Given the description of an element on the screen output the (x, y) to click on. 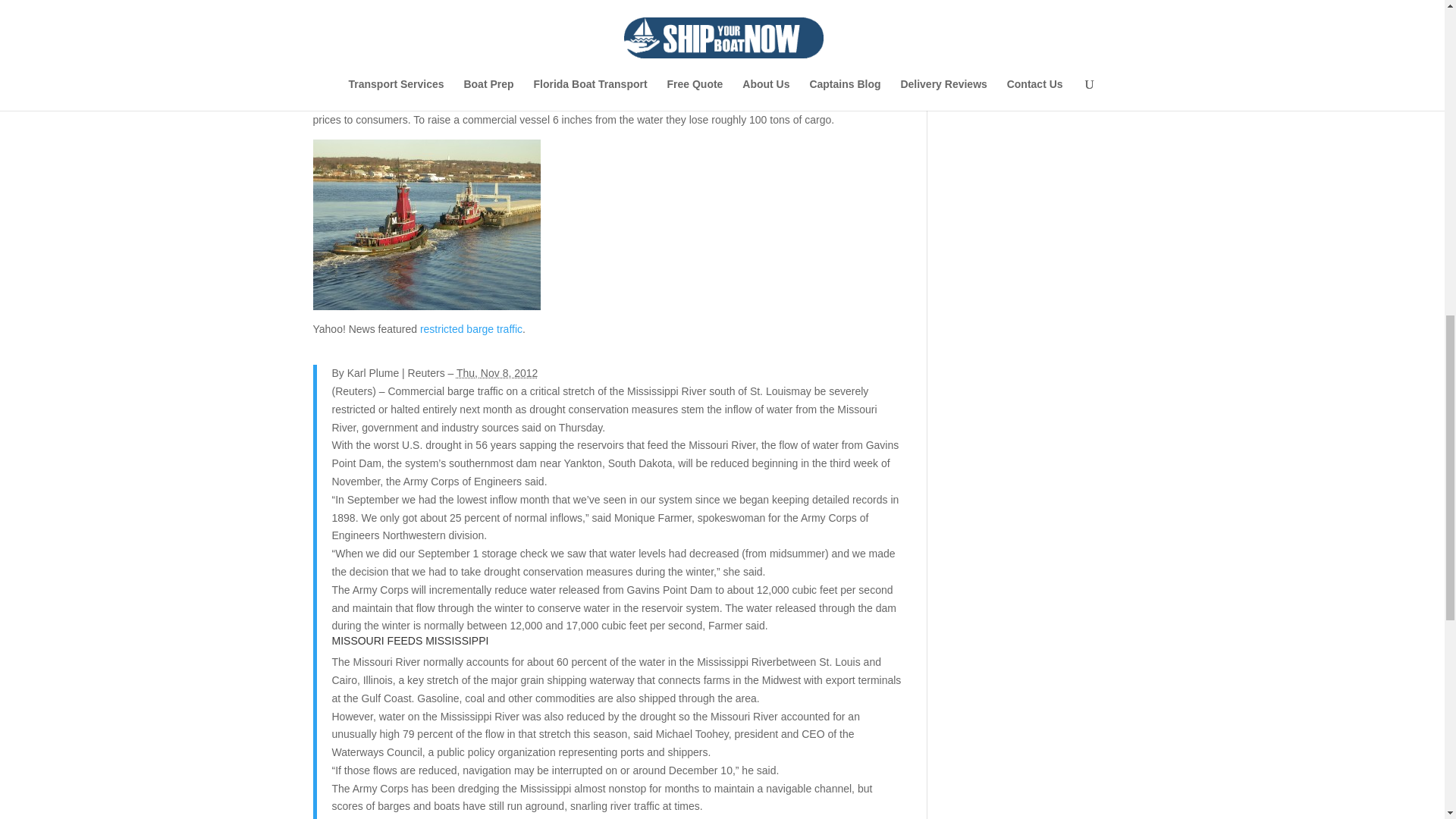
restricted barge traffic (471, 328)
Tugboat and barge (426, 224)
Restricted Barge Traffic (471, 328)
2012-11-08T20:40:30Z (497, 372)
